Given the description of an element on the screen output the (x, y) to click on. 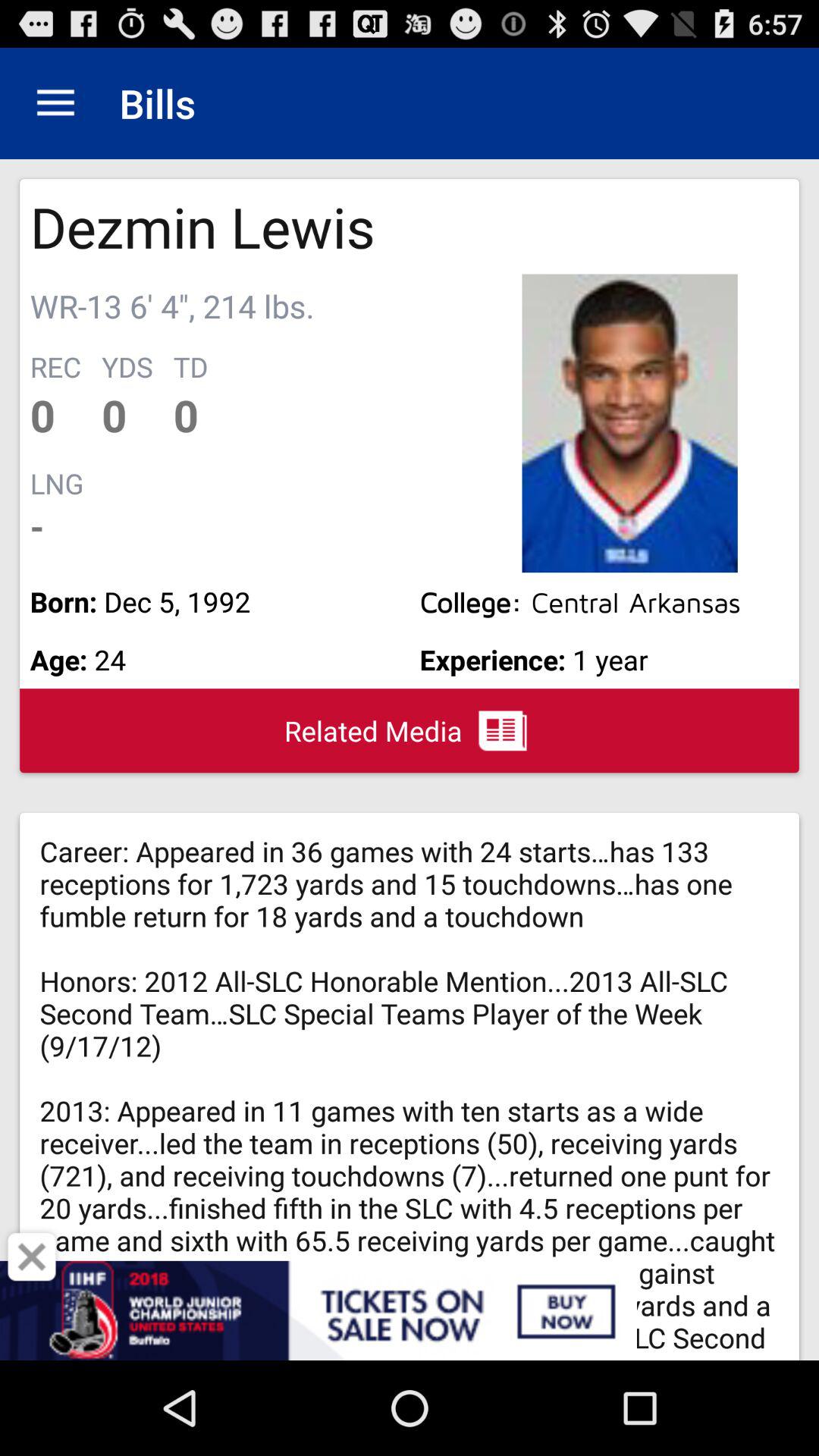
click icon next to the bills item (55, 103)
